Given the description of an element on the screen output the (x, y) to click on. 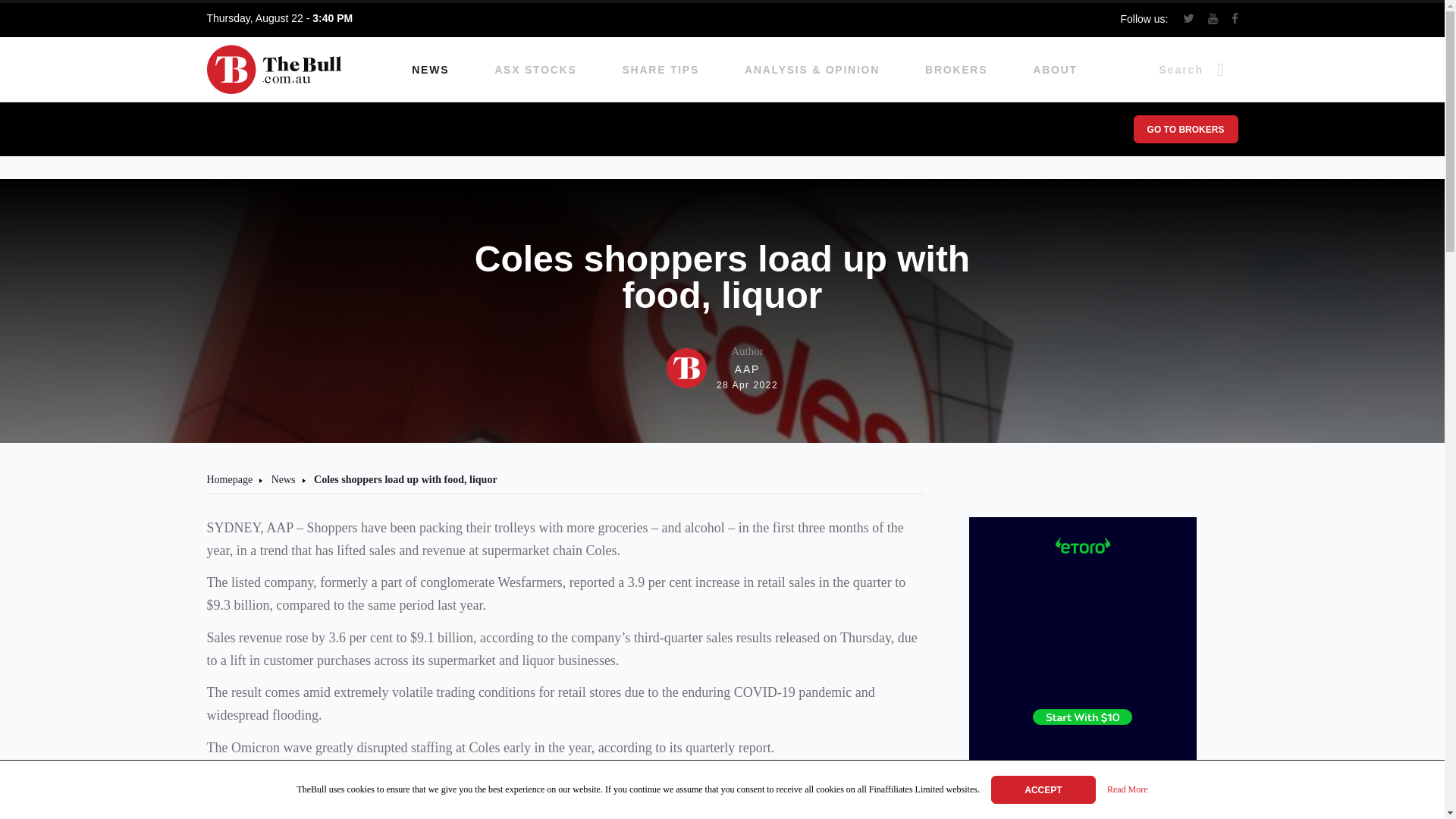
NEWS (430, 69)
SHARE TIPS (661, 69)
ABOUT (1054, 69)
News (282, 479)
ASX STOCKS (721, 367)
Read More (535, 69)
Homepage (1127, 789)
BROKERS (228, 479)
ACCEPT (955, 69)
